Given the description of an element on the screen output the (x, y) to click on. 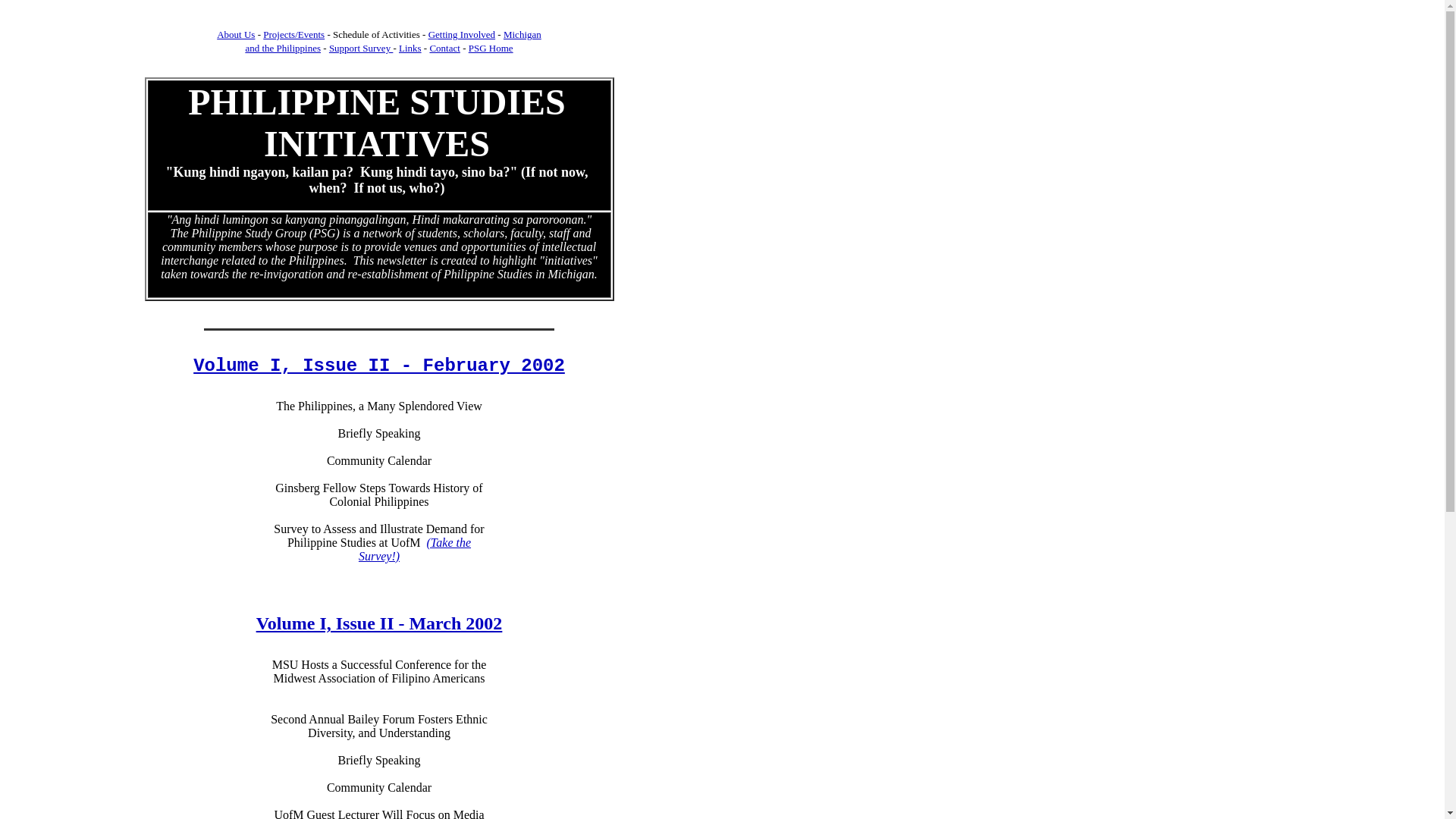
Getting Involved (461, 34)
Links (410, 48)
Contact (444, 48)
Volume I, Issue II - February 2002 (378, 364)
Support Survey (361, 48)
About Us (235, 34)
PSG Home (490, 48)
Volume I, Issue II - March 2002 (379, 623)
Michigan and the Philippines (392, 41)
